Given the description of an element on the screen output the (x, y) to click on. 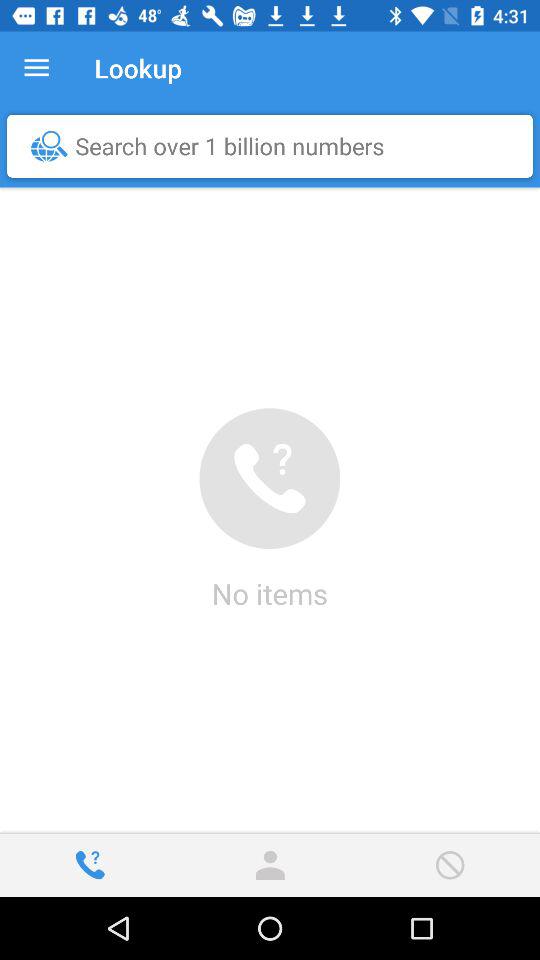
select block icon (449, 865)
select the icon which is left to contacts icon (90, 865)
